Given the description of an element on the screen output the (x, y) to click on. 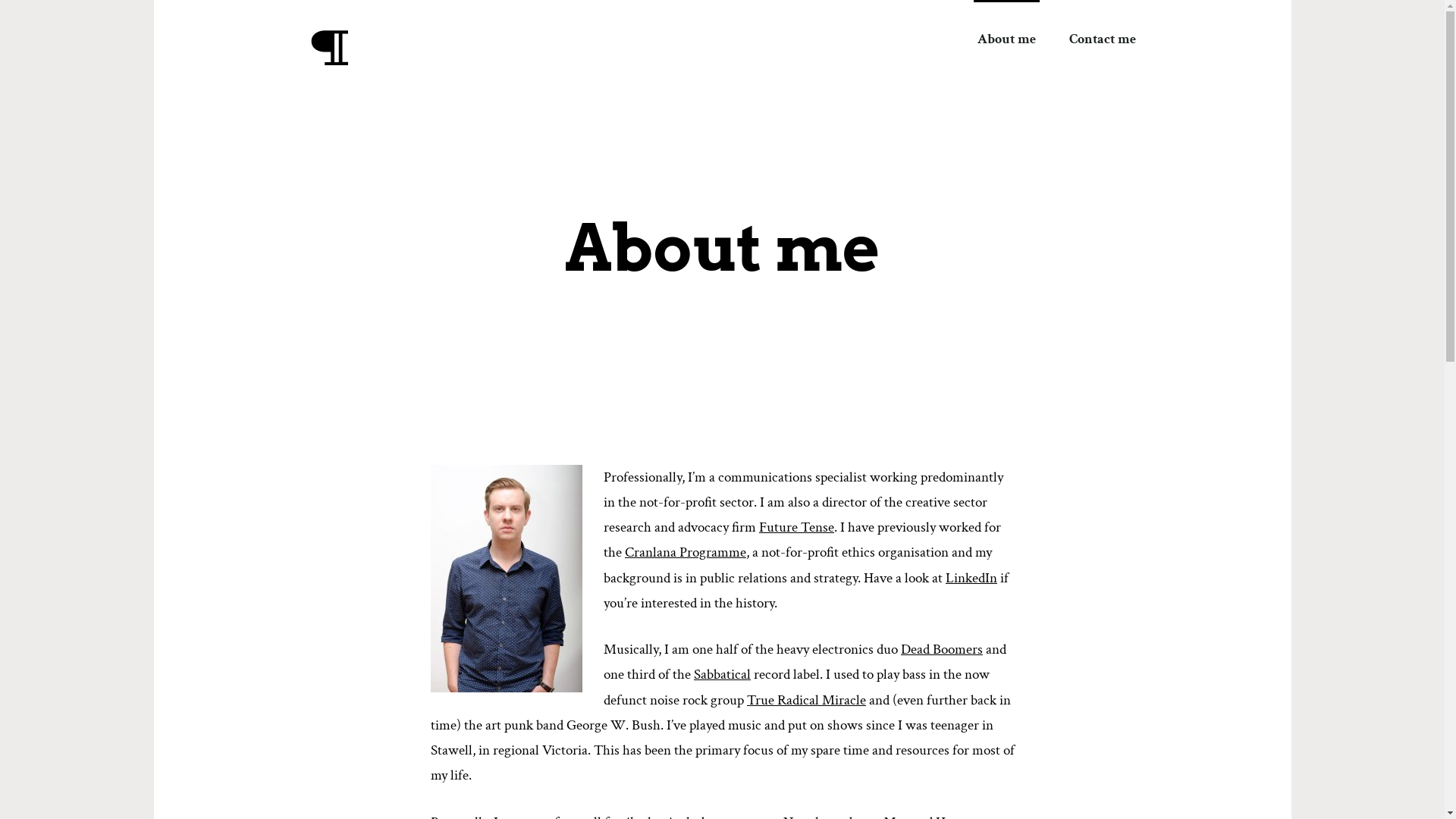
Future Tense Element type: text (796, 526)
About me Element type: text (1006, 38)
Cranlana Programme Element type: text (685, 551)
Dead Boomers Element type: text (941, 649)
Sabbatical Element type: text (721, 674)
LinkedIn Element type: text (971, 577)
Contact me Element type: text (1101, 38)
Leith Thomas Element type: text (483, 66)
True Radical Miracle Element type: text (806, 699)
